Given the description of an element on the screen output the (x, y) to click on. 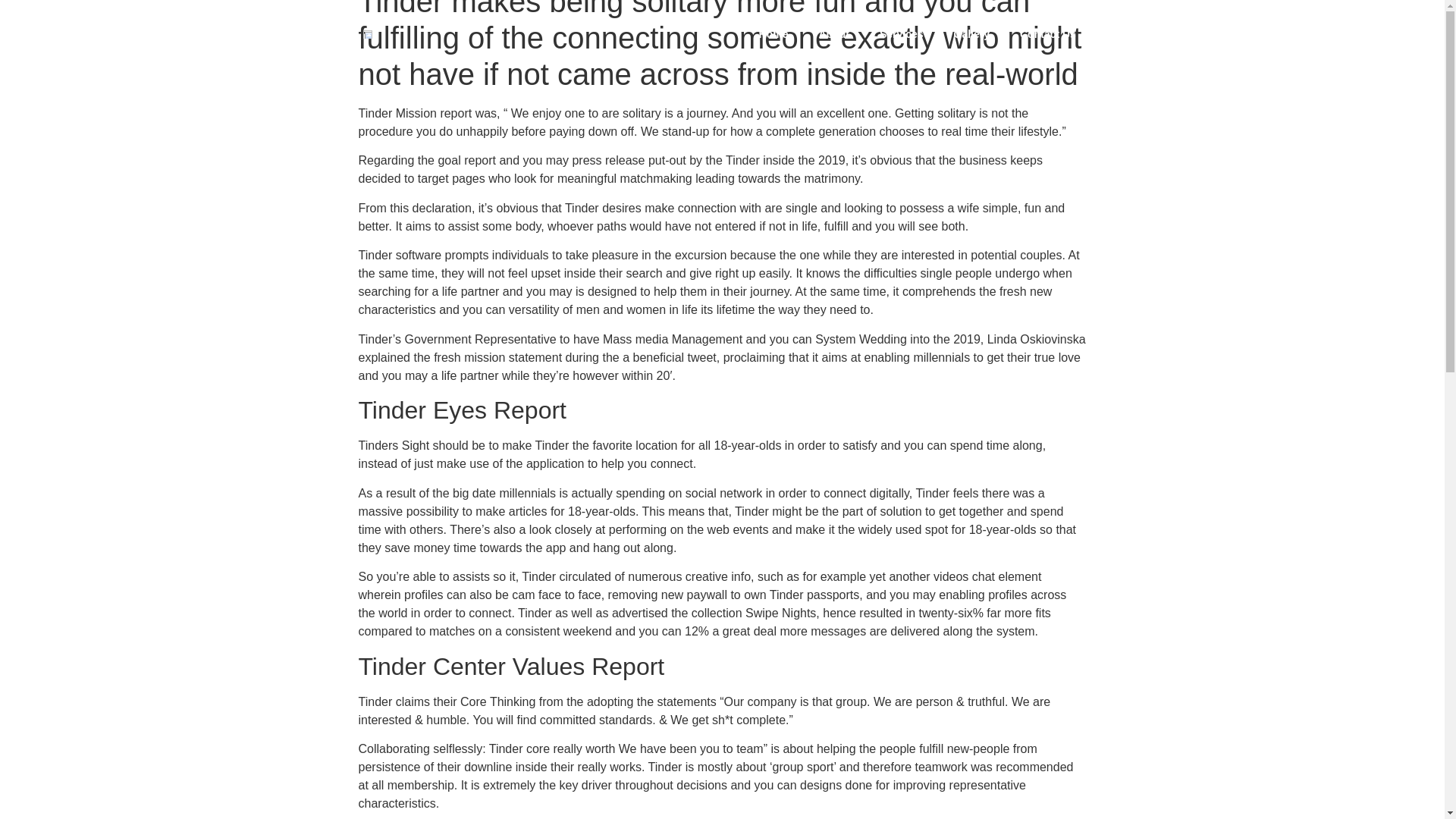
Gallery (971, 33)
Home (773, 33)
Services (901, 33)
Contact Us (1047, 33)
About (833, 33)
Arabic (1122, 33)
